Given the description of an element on the screen output the (x, y) to click on. 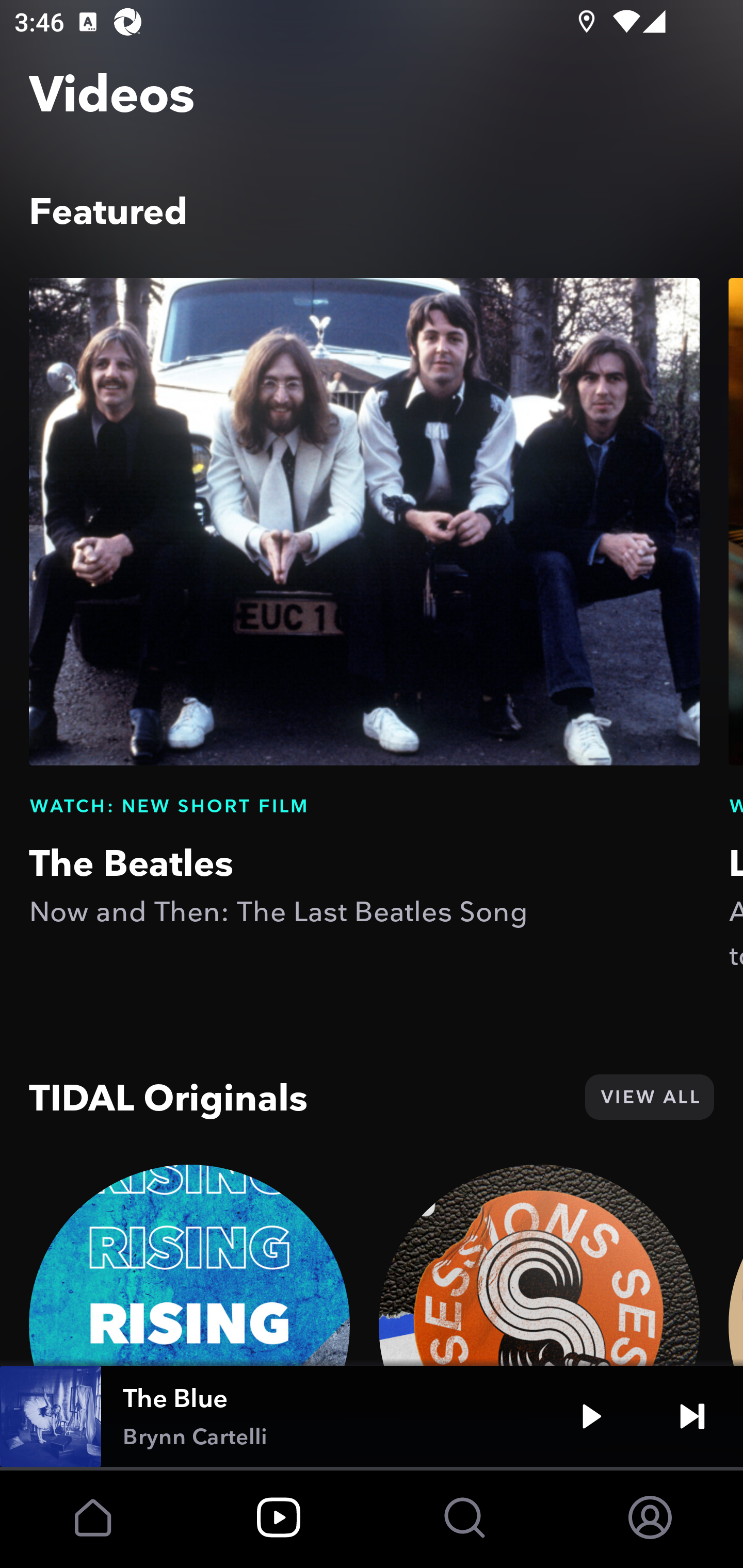
VIEW ALL (649, 1096)
The Blue Brynn Cartelli Play (371, 1416)
Play (590, 1416)
